Given the description of an element on the screen output the (x, y) to click on. 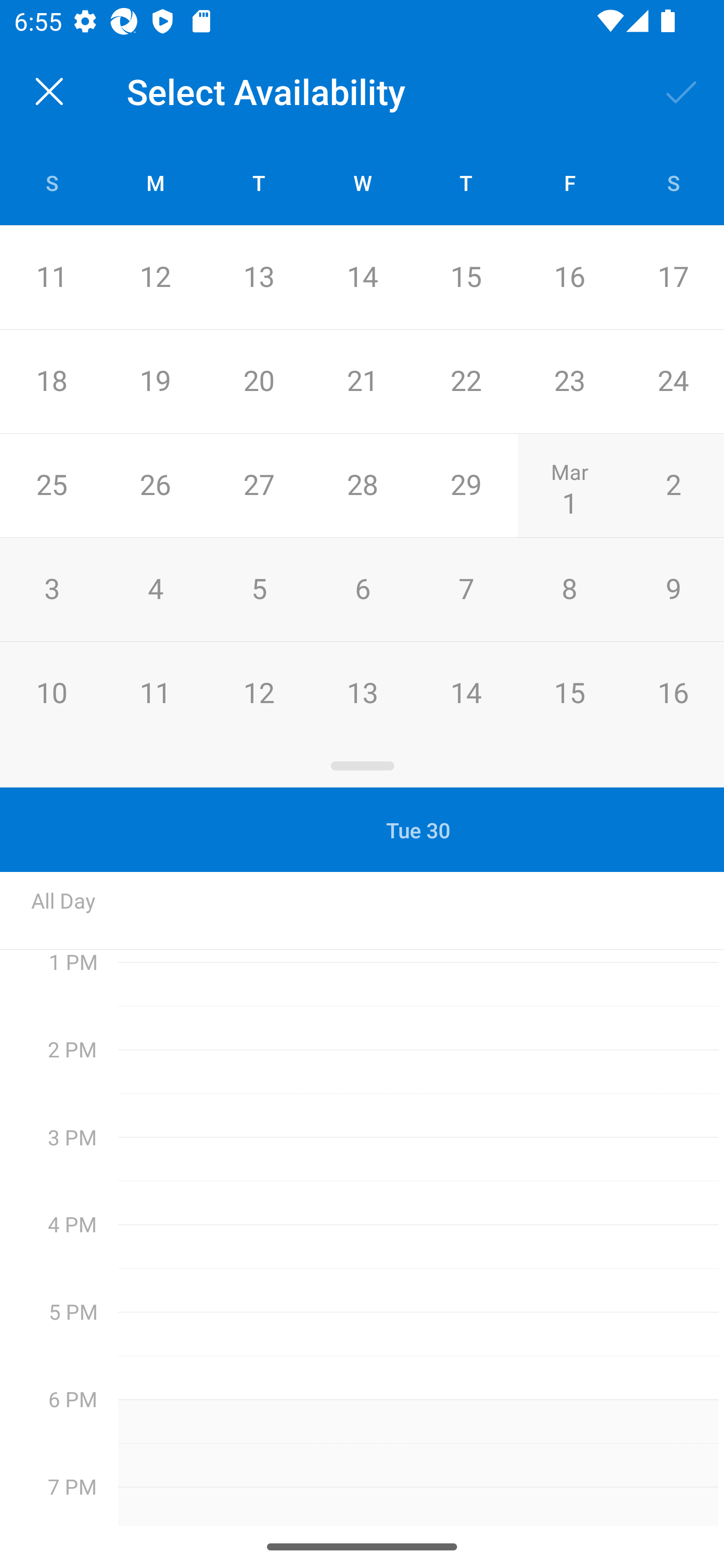
Close (49, 91)
Done button (681, 90)
11 Sunday, February 11 (51, 277)
12 Monday, February 12 (155, 277)
13 Tuesday, February 13 (258, 277)
14 Wednesday, February 14 (362, 277)
15 Thursday, February 15 (465, 277)
16 Friday, February 16 (569, 277)
17 Saturday, February 17 (672, 277)
18 Sunday, February 18 (51, 380)
19 Monday, February 19 (155, 380)
20 Tuesday, February 20 (258, 380)
21 Wednesday, February 21 (362, 380)
22 Thursday, February 22 (465, 380)
23 Friday, February 23 (569, 380)
24 Saturday, February 24 (672, 380)
25 Sunday, February 25 (51, 485)
26 Monday, February 26 (155, 485)
27 Tuesday, February 27 (258, 485)
28 Wednesday, February 28 (362, 485)
29 Thursday, February 29 (465, 485)
Mar
1 Friday, March 1 (569, 485)
2 Saturday, March 2 (672, 485)
3 Sunday, March 3 (51, 589)
4 Monday, March 4 (155, 589)
5 Tuesday, March 5 (258, 589)
6 Wednesday, March 6 (362, 589)
7 Thursday, March 7 (465, 589)
8 Friday, March 8 (569, 589)
9 Saturday, March 9 (672, 589)
10 Sunday, March 10 (51, 692)
11 Monday, March 11 (155, 692)
12 Tuesday, March 12 (258, 692)
13 Wednesday, March 13 (362, 692)
14 Thursday, March 14 (465, 692)
15 Friday, March 15 (569, 692)
16 Saturday, March 16 (672, 692)
Day picker collapse (362, 765)
